Given the description of an element on the screen output the (x, y) to click on. 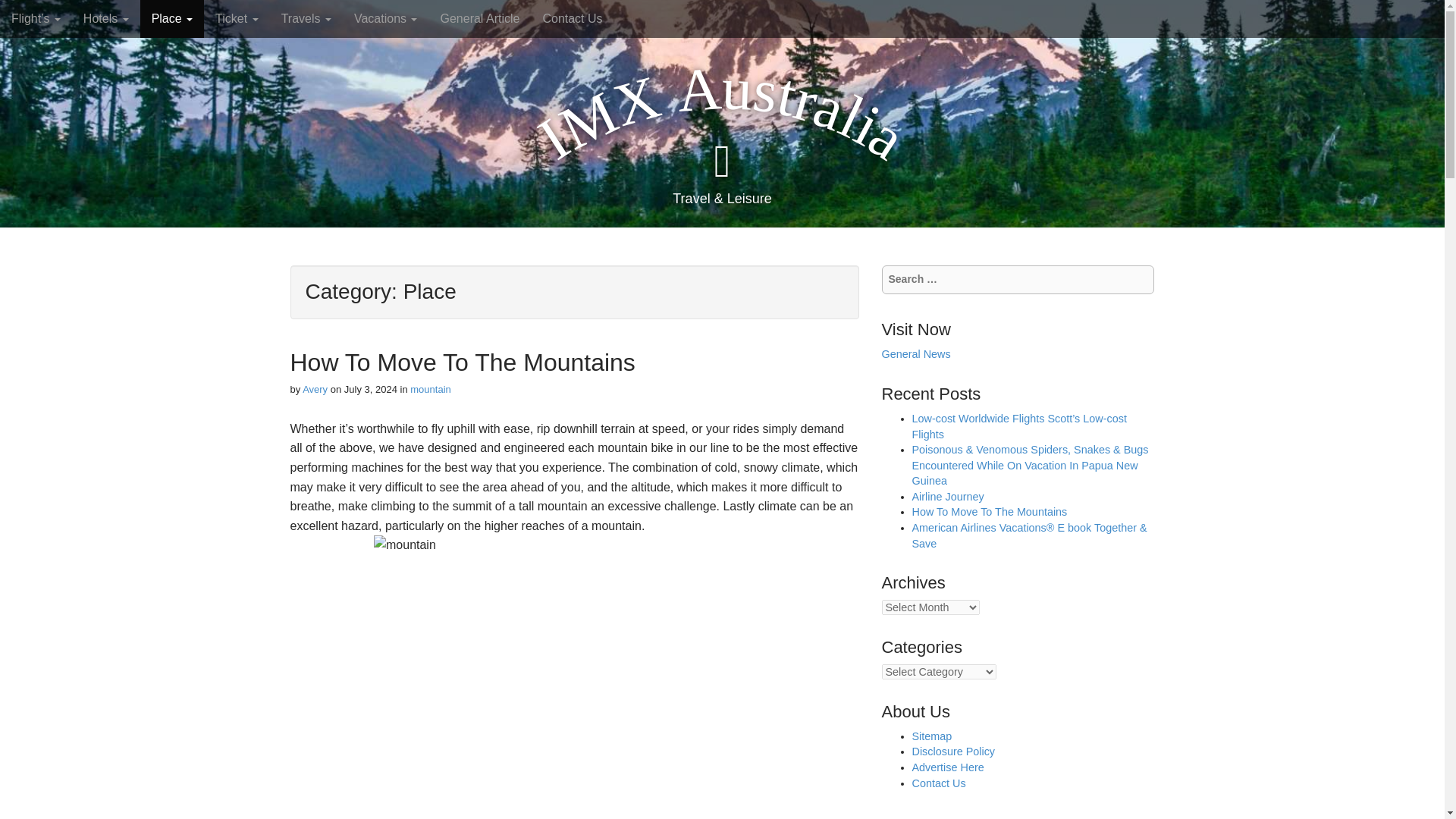
Avery (314, 389)
How To Move To The Mountains (461, 361)
Posts by Avery (314, 389)
Travels (305, 18)
Contact Us (571, 18)
mountain (429, 389)
Ticket (236, 18)
July 3, 2024 (370, 389)
General Article (479, 18)
Vacations (385, 18)
Hotels (105, 18)
Place (171, 18)
